Given the description of an element on the screen output the (x, y) to click on. 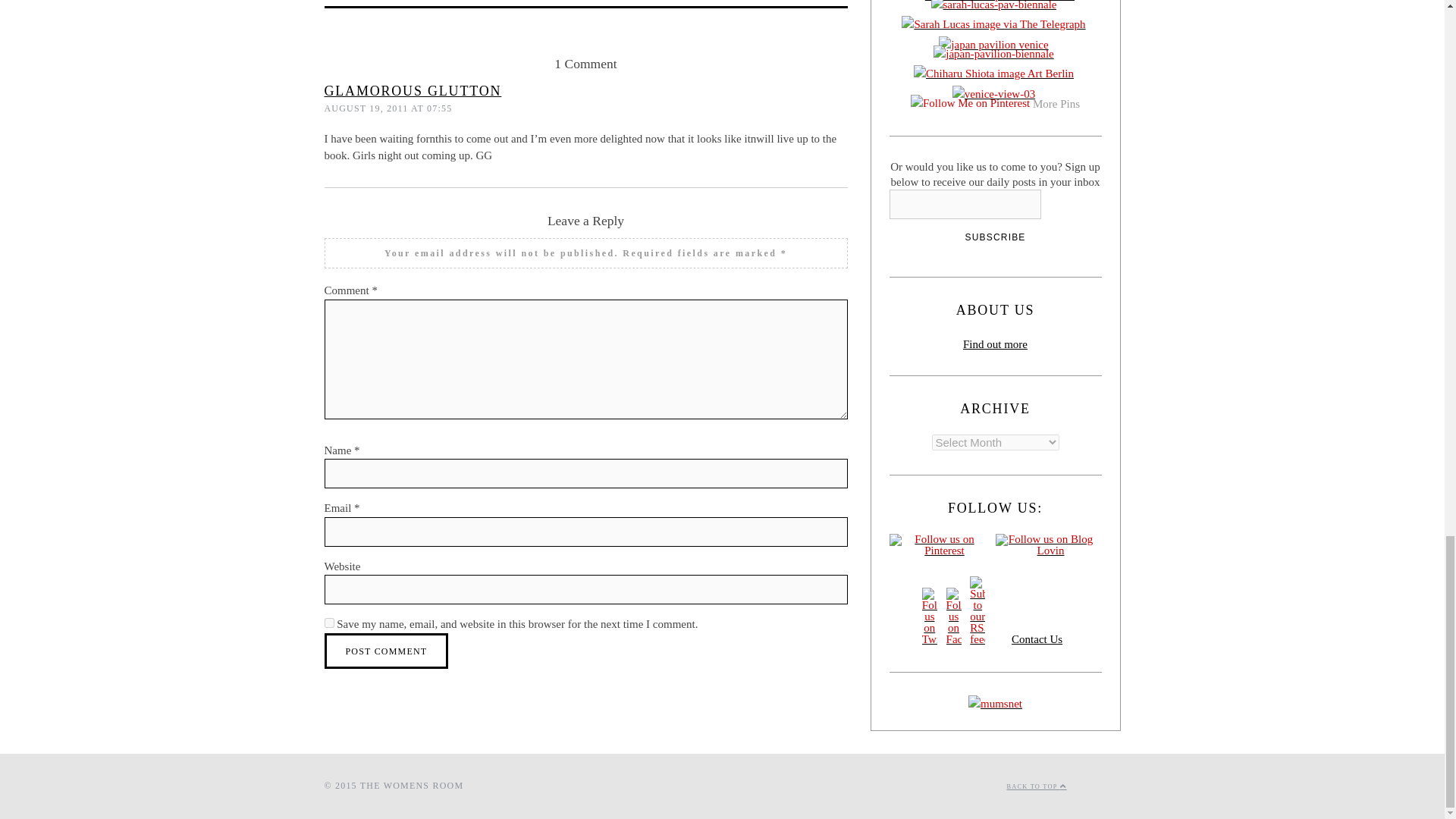
Post Comment (386, 651)
sarah-lucas-uk-pavilion-biennale (994, 3)
Post Comment (386, 651)
japan pavilion venice (995, 46)
AUGUST 19, 2011 AT 07:55 (388, 108)
sarah-lucas-pav-biennale (995, 8)
Chiharu Shiota image Art Berlin (995, 75)
Sarah Lucas image via The Telegraph (994, 25)
GLAMOROUS GLUTTON (413, 90)
yes (329, 623)
Subscribe (994, 236)
japan-pavilion-biennale (995, 55)
venice-view-03 (995, 95)
